Given the description of an element on the screen output the (x, y) to click on. 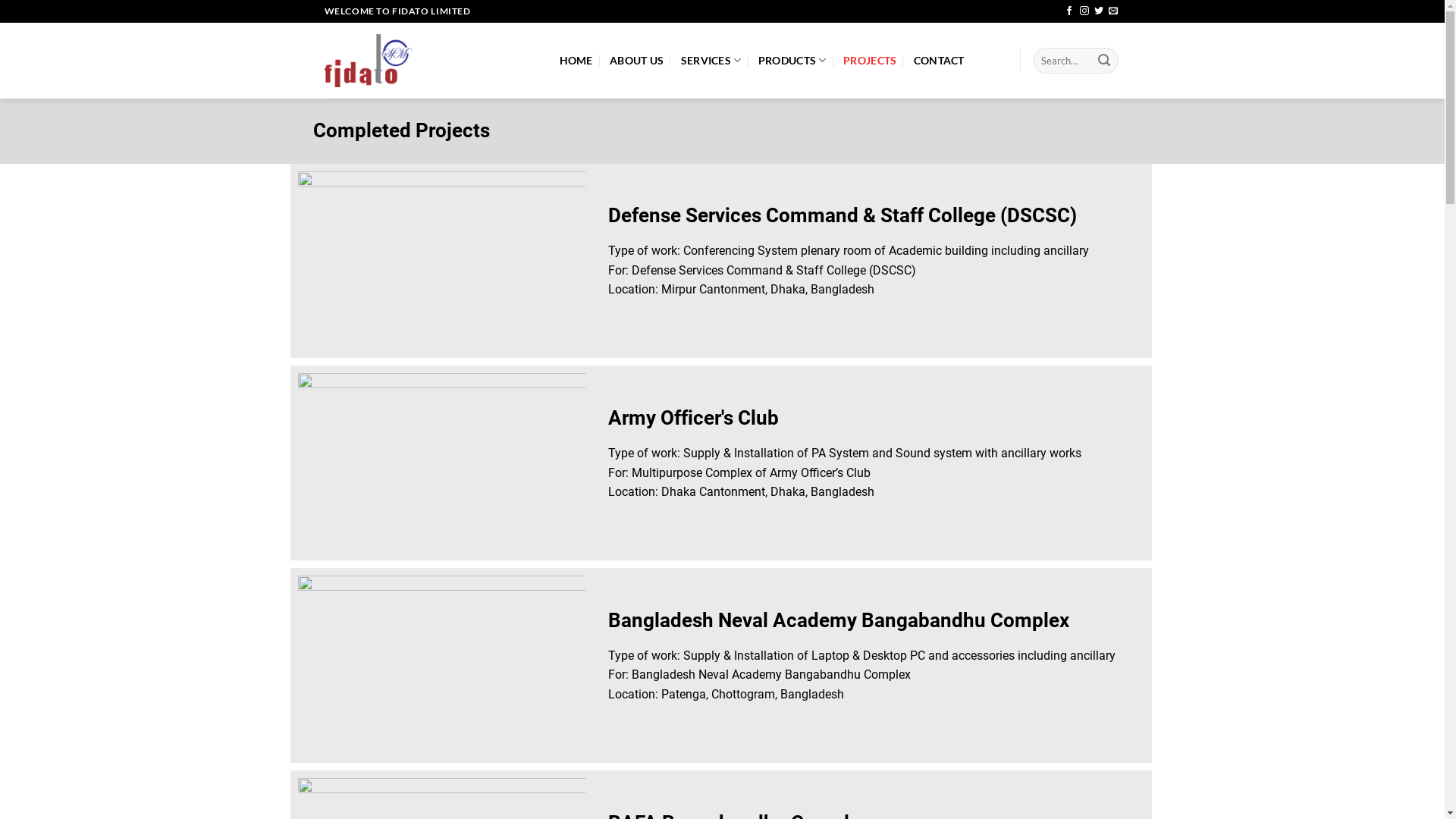
Follow on Facebook Element type: hover (1068, 11)
CONTACT Element type: text (938, 60)
SERVICES Element type: text (710, 60)
ABOUT US Element type: text (636, 60)
HOME Element type: text (576, 60)
Follow on Twitter Element type: hover (1098, 11)
Send us an email Element type: hover (1112, 11)
PRODUCTS Element type: text (792, 60)
Follow on Instagram Element type: hover (1083, 11)
PROJECTS Element type: text (869, 60)
Fidato Limited Element type: hover (430, 60)
